Given the description of an element on the screen output the (x, y) to click on. 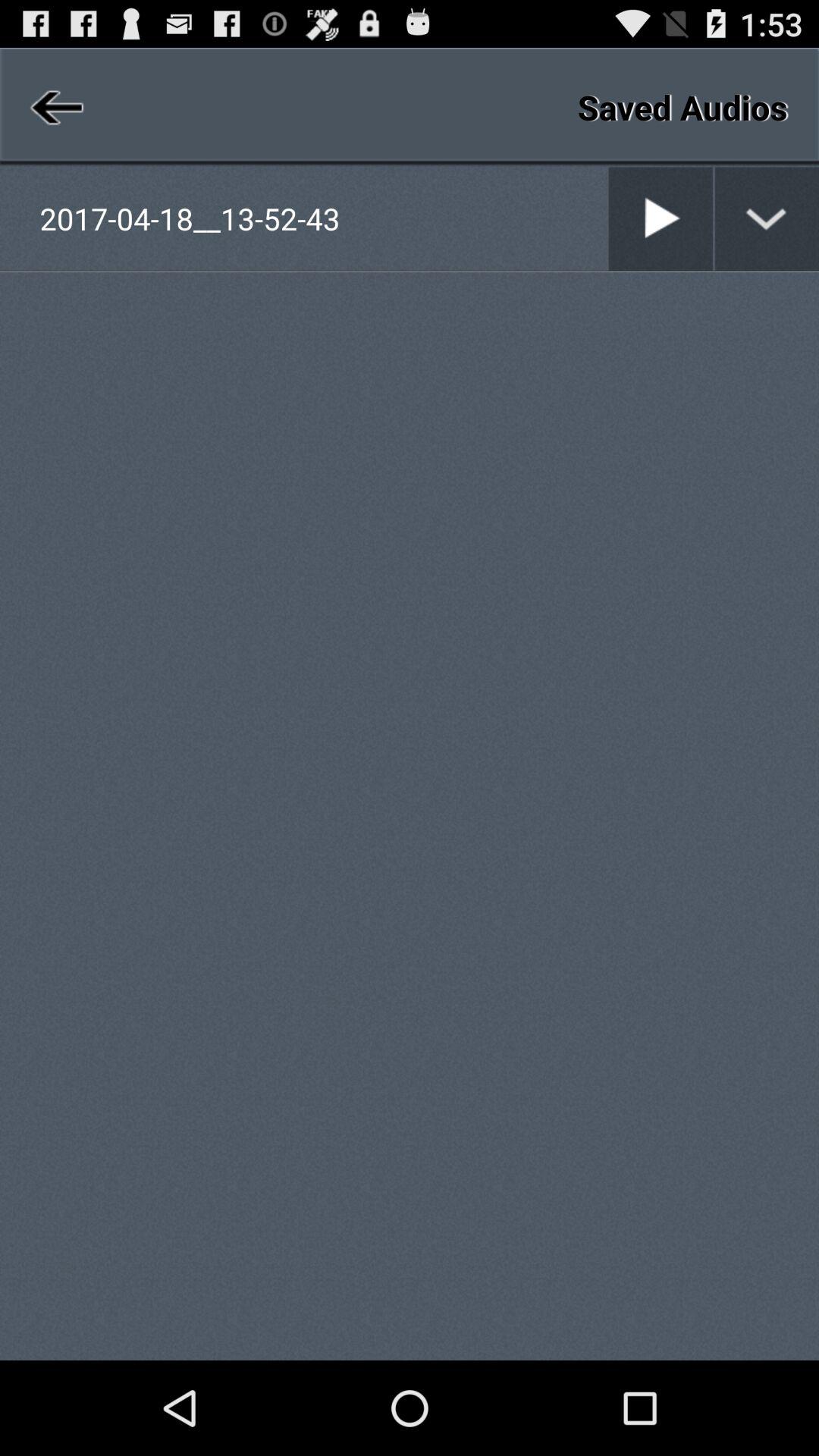
play selection (660, 218)
